Given the description of an element on the screen output the (x, y) to click on. 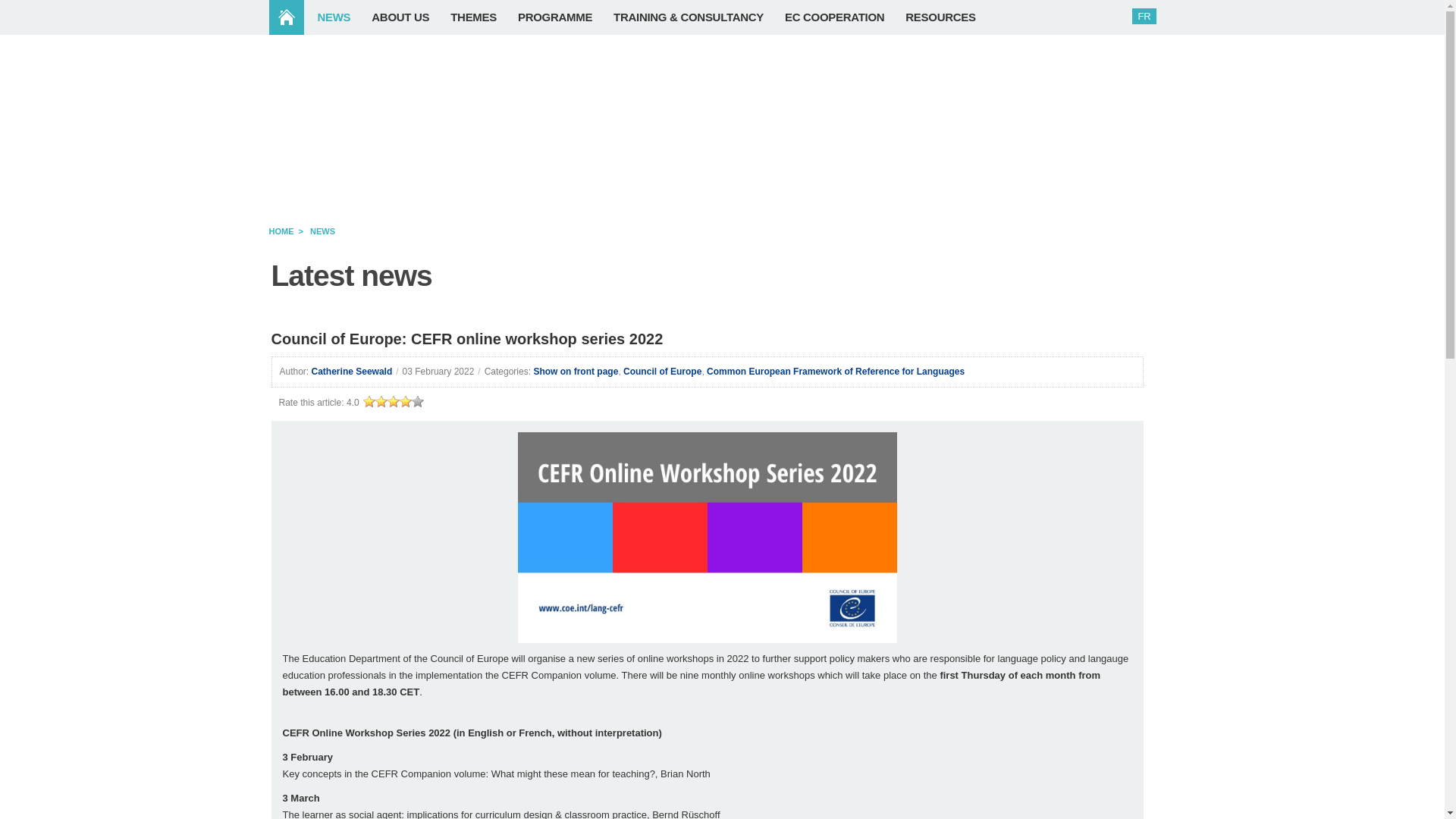
PROGRAMME (562, 17)
THEMES (480, 17)
HOME (293, 17)
ABOUT US (407, 17)
NEWS (341, 17)
